Given the description of an element on the screen output the (x, y) to click on. 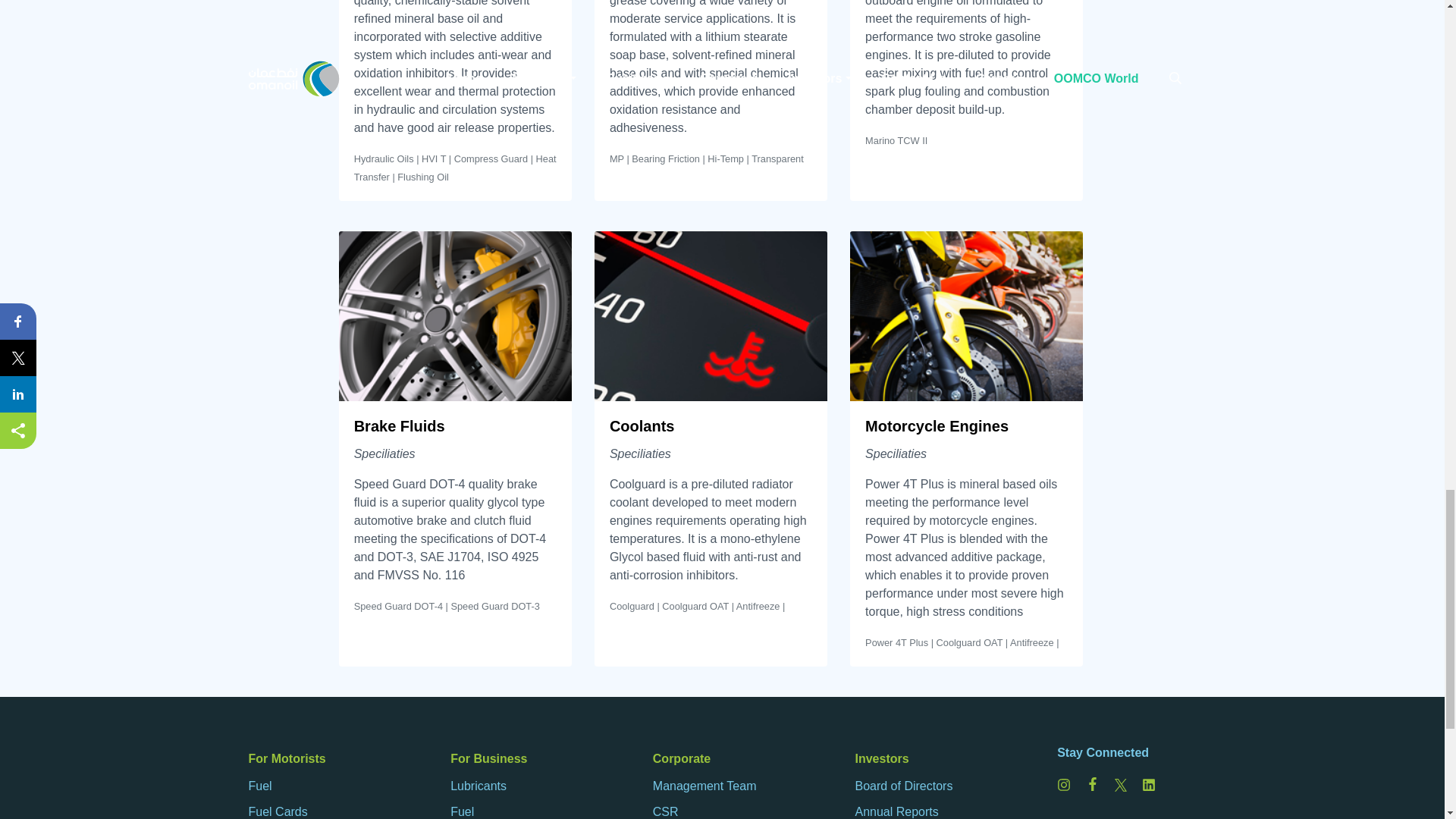
twitter icon (1120, 784)
